Given the description of an element on the screen output the (x, y) to click on. 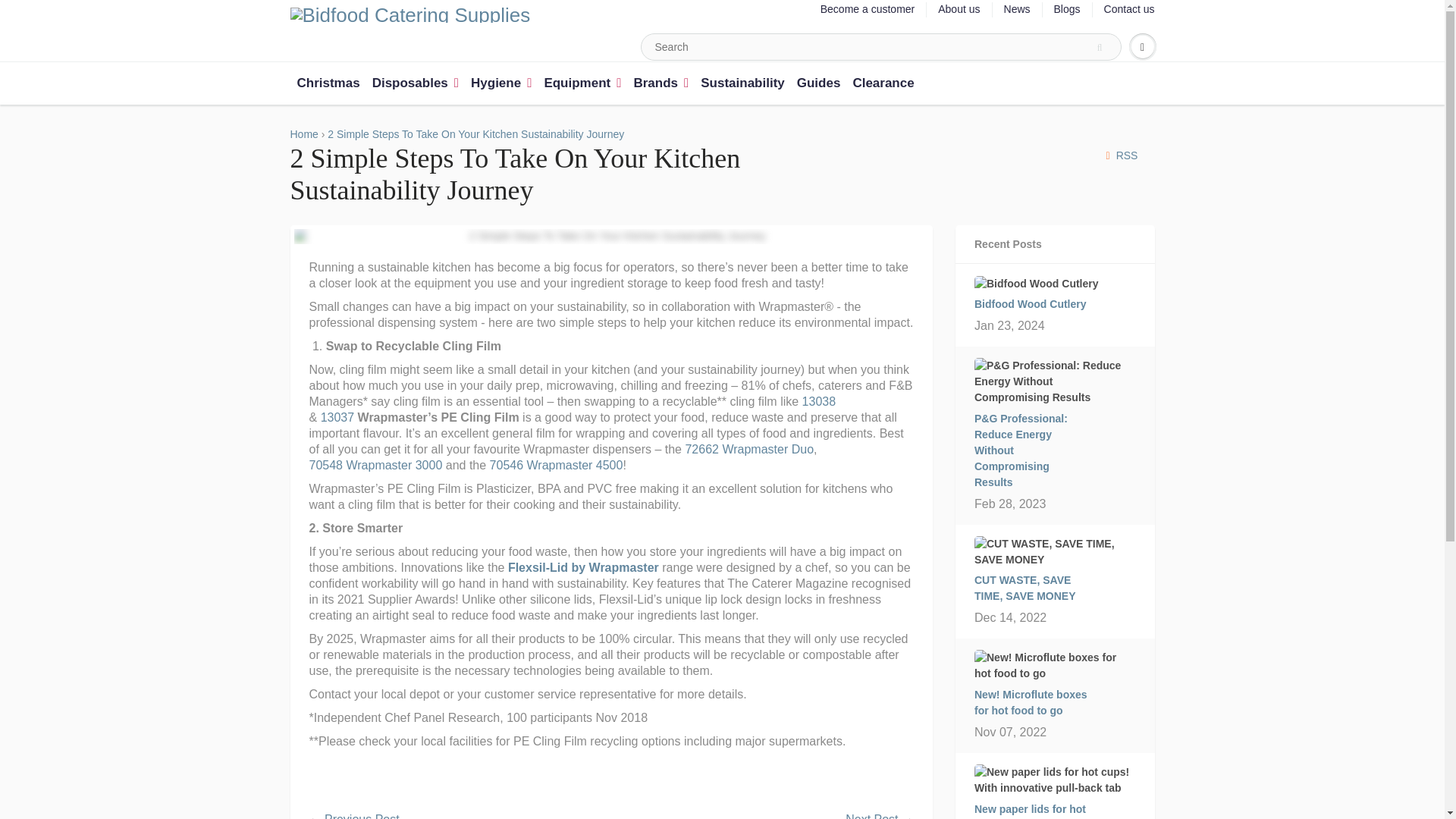
News (1017, 9)
Contact us (1128, 9)
About us (958, 9)
Become a customer (868, 9)
Disposables (415, 83)
Hygiene (500, 83)
Blogs (1067, 9)
Home (303, 133)
Christmas (328, 83)
